Given the description of an element on the screen output the (x, y) to click on. 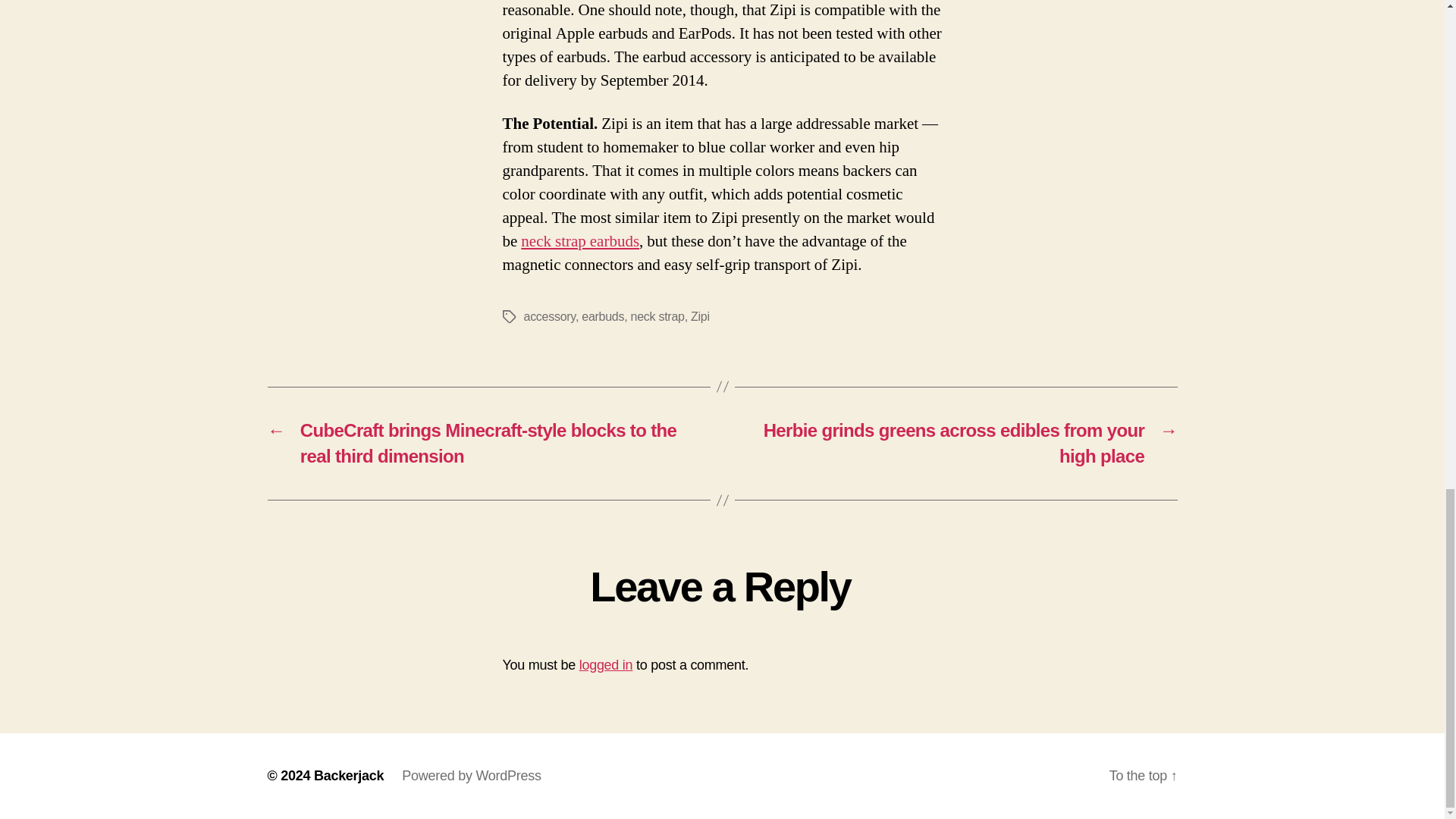
accessory (548, 316)
Powered by WordPress (470, 775)
logged in (606, 664)
Zipi (700, 316)
Backerjack (349, 775)
neck strap (657, 316)
neck strap earbuds (580, 240)
earbuds (602, 316)
